Given the description of an element on the screen output the (x, y) to click on. 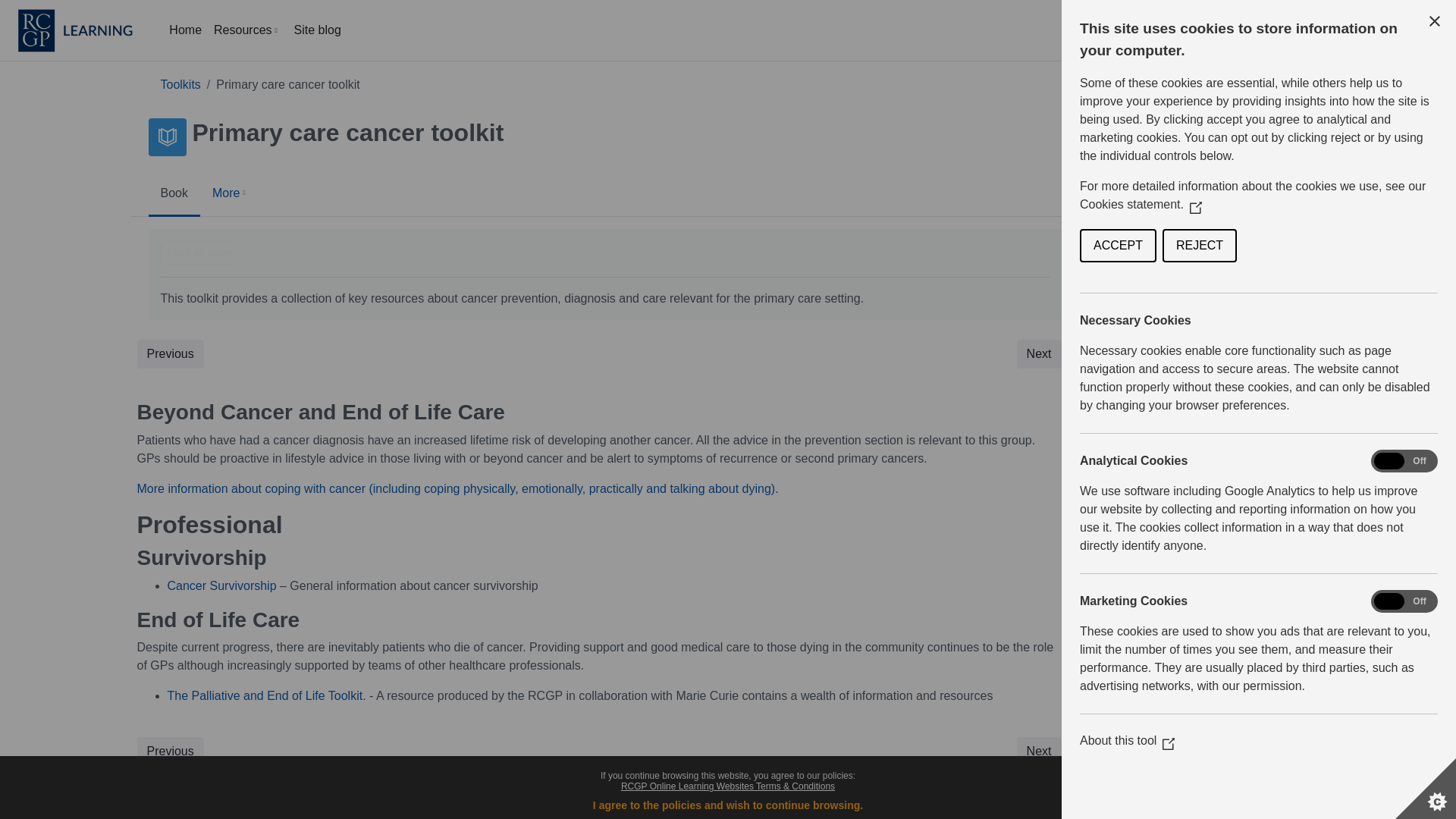
Cancer information for Patients Carers and Professionals (1332, 330)
Continued Professional Development Training and Appraisal (1320, 376)
Cancer Screening (1297, 230)
Cancer Screening (1297, 230)
Site blog (317, 30)
Log in (1427, 30)
Introduction (1281, 194)
Continued Professional Development Training and Appraisal (1320, 376)
Treatment (1276, 267)
Cancer information for Patients Carers and Professionals (1332, 330)
ACCEPT (1387, 245)
Clinical toolkits (180, 83)
Treatment (1276, 267)
Close block drawer (1436, 90)
